Given the description of an element on the screen output the (x, y) to click on. 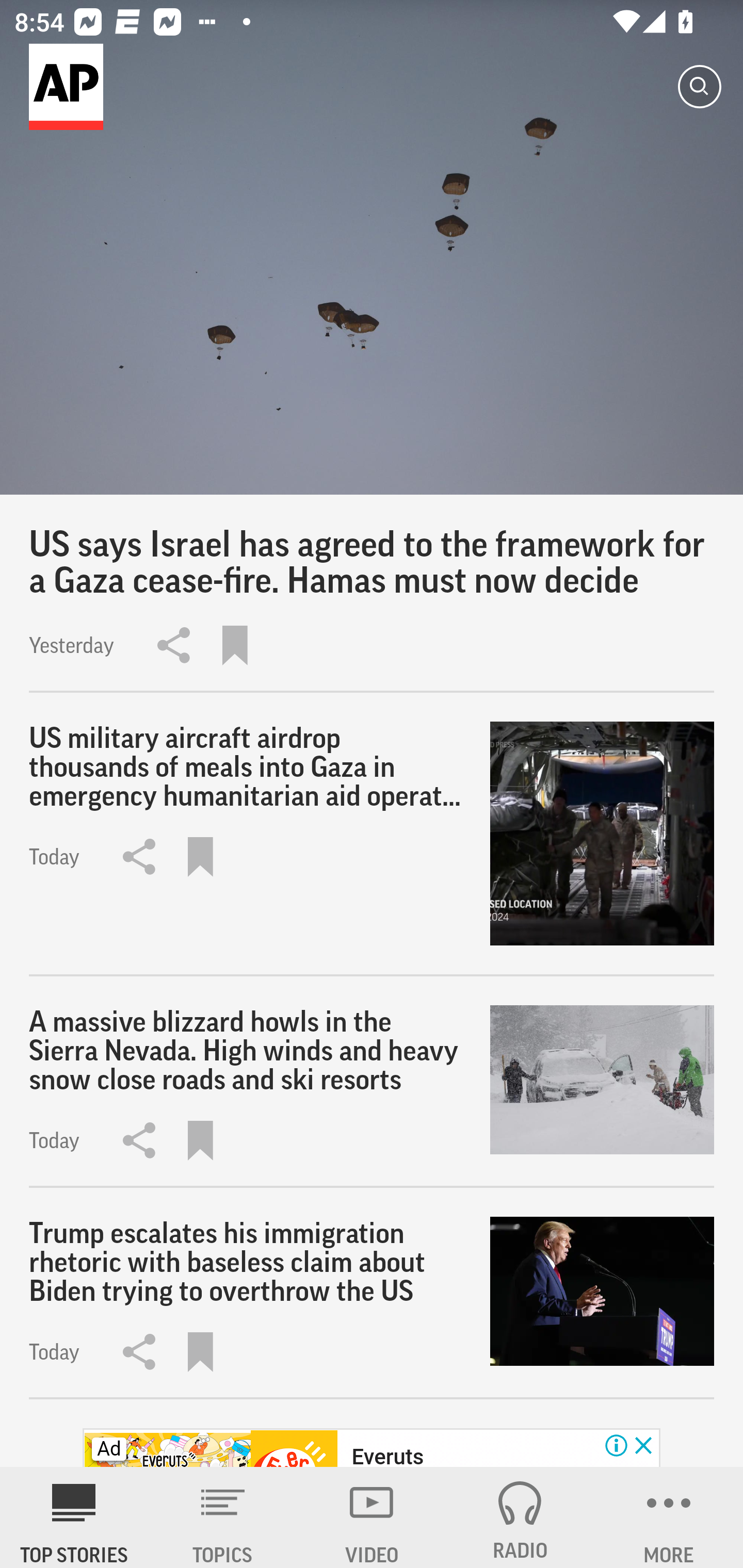
Everuts (387, 1454)
AP News TOP STORIES (74, 1517)
TOPICS (222, 1517)
VIDEO (371, 1517)
RADIO (519, 1517)
MORE (668, 1517)
